Given the description of an element on the screen output the (x, y) to click on. 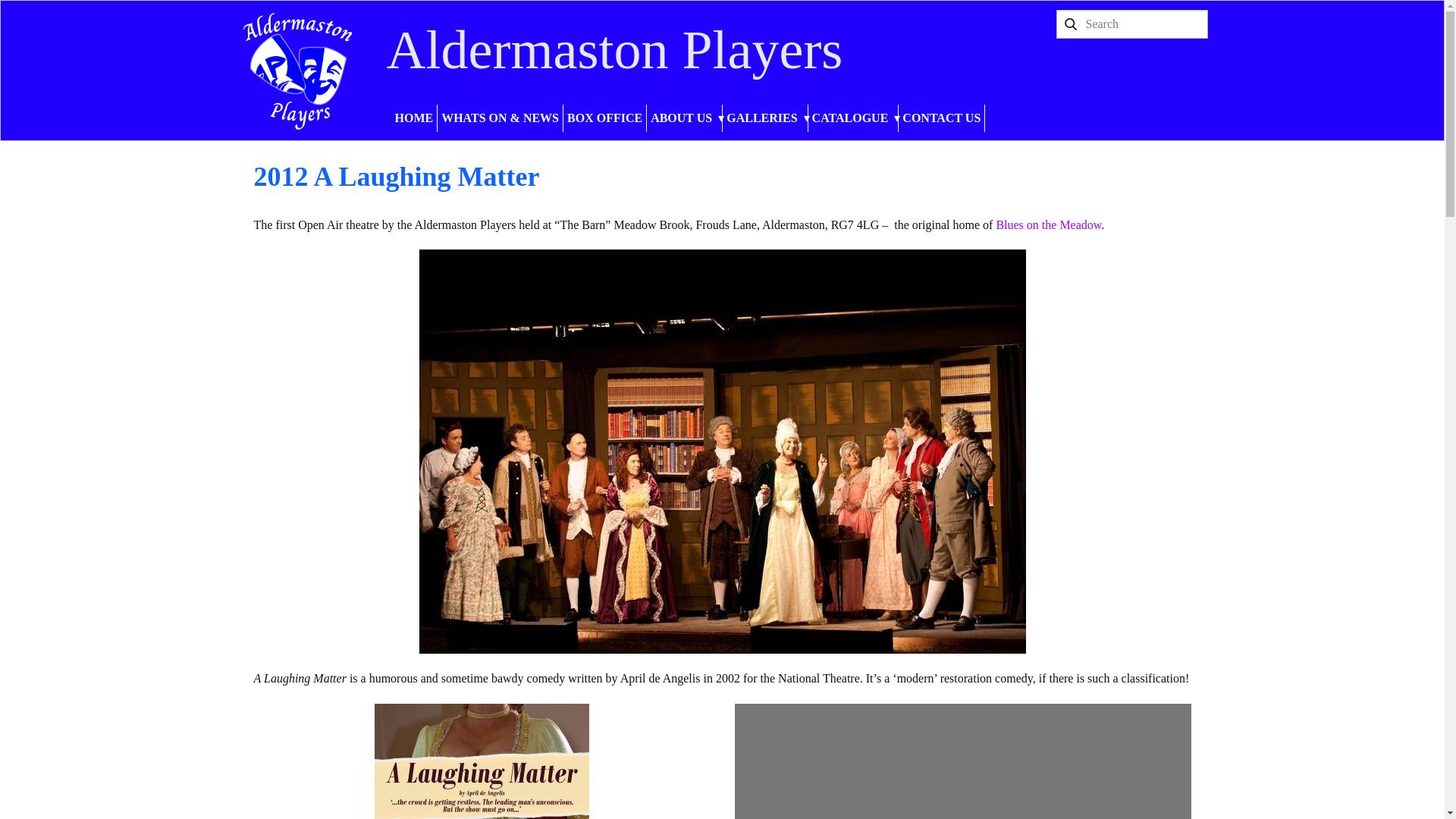
BOX OFFICE (604, 117)
Aldermaston Players (297, 70)
Aldermaston Players (615, 49)
HOME (414, 117)
ABOUT US (684, 117)
